Given the description of an element on the screen output the (x, y) to click on. 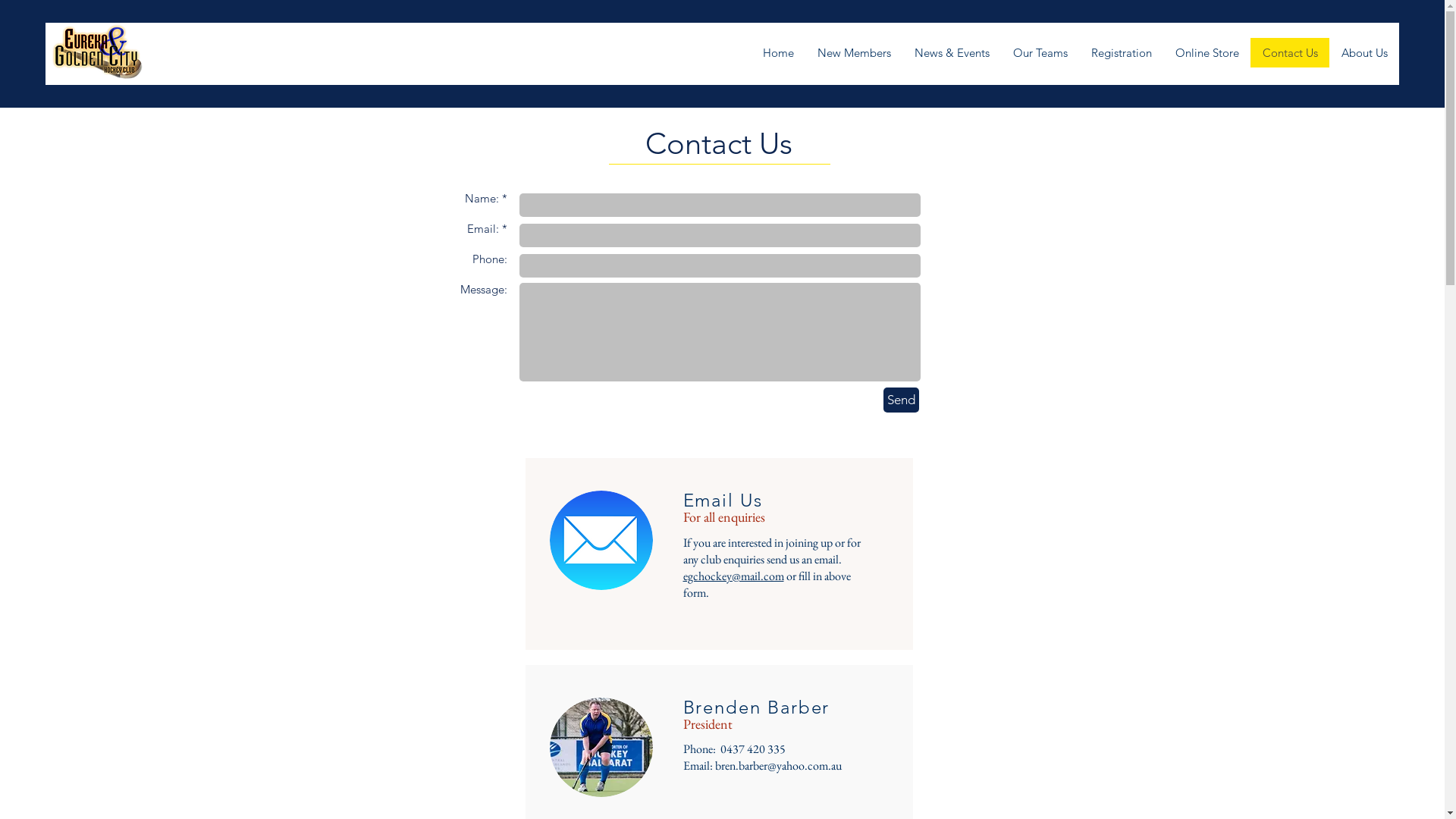
bren.barber@yahoo.com.au Element type: text (777, 765)
Our Teams Element type: text (1040, 52)
News & Events Element type: text (951, 52)
About Us Element type: text (1364, 52)
Online Store Element type: text (1206, 52)
Contact Us Element type: text (1289, 52)
Home Element type: text (777, 52)
New Members Element type: text (853, 52)
egchockey@mail.com Element type: text (732, 575)
Registration Element type: text (1121, 52)
Send Element type: text (900, 399)
